Given the description of an element on the screen output the (x, y) to click on. 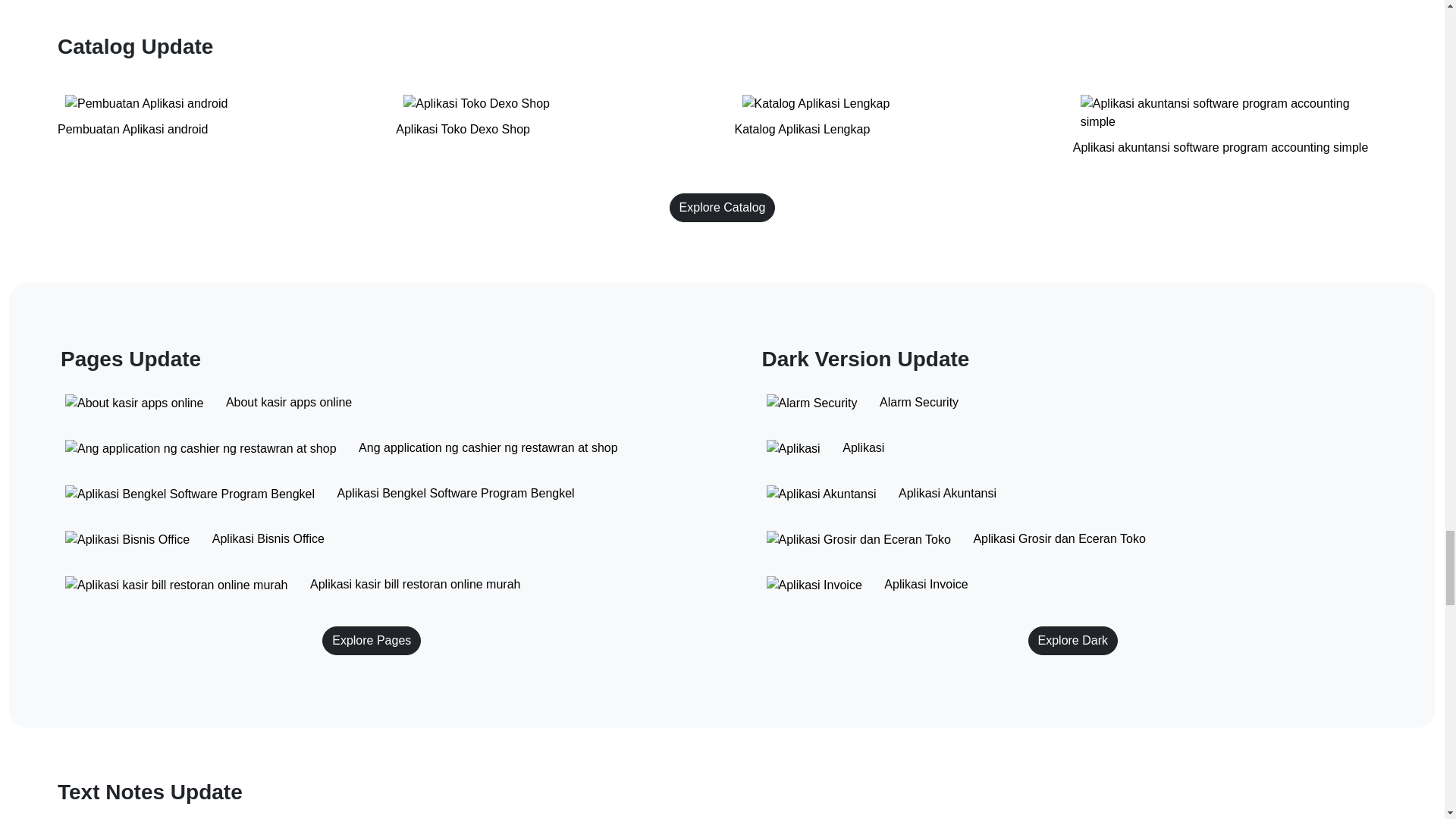
Katalog Aplikasi Lengkap (890, 127)
Aplikasi akuntansi software program accounting simple (1230, 127)
Pembuatan Aplikasi android (214, 127)
Explore Catalog (722, 207)
About kasir apps online (371, 403)
Aplikasi Toko Dexo Shop (553, 127)
